Given the description of an element on the screen output the (x, y) to click on. 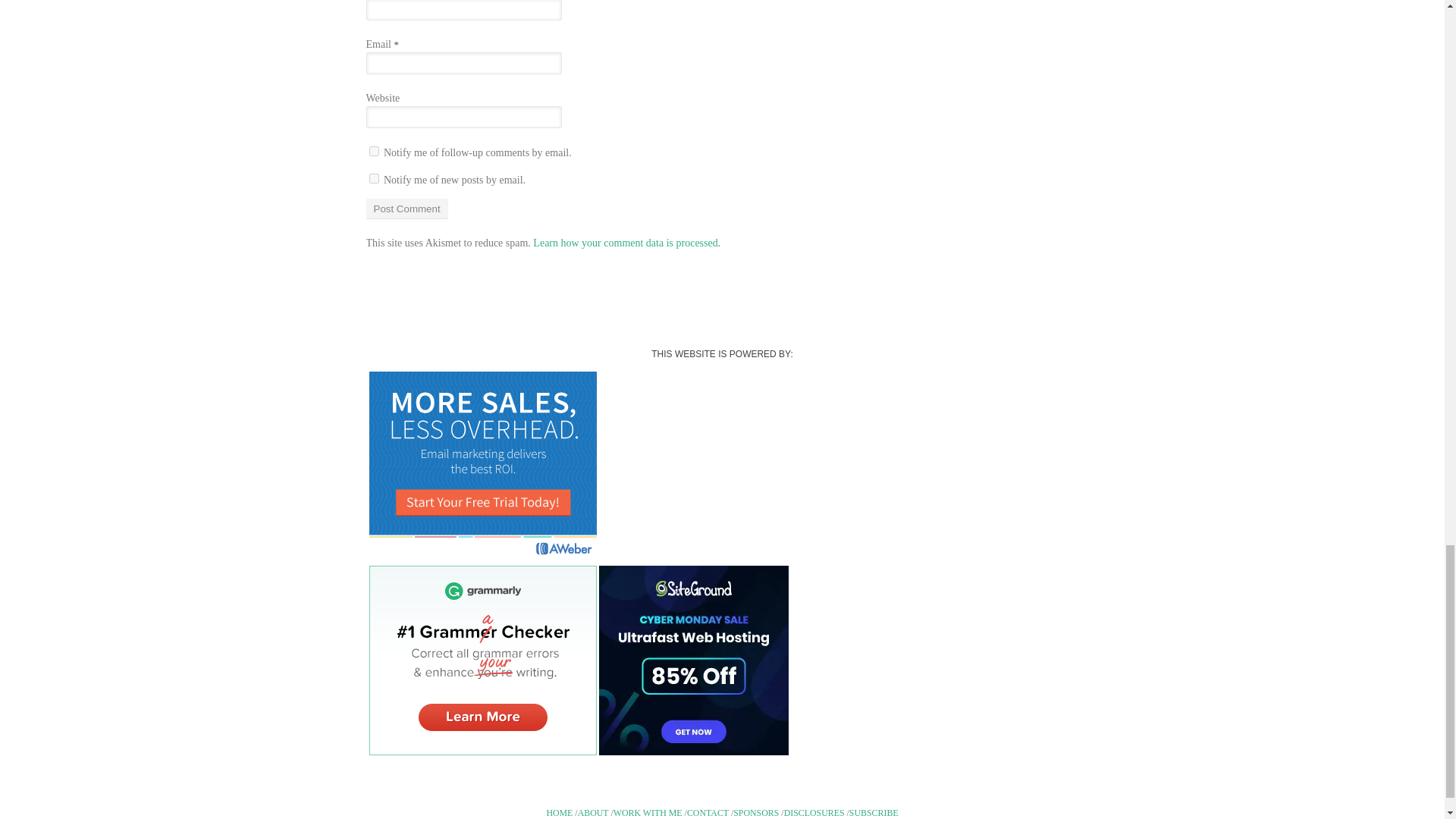
subscribe (373, 178)
subscribe (373, 151)
Post Comment (405, 209)
